Given the description of an element on the screen output the (x, y) to click on. 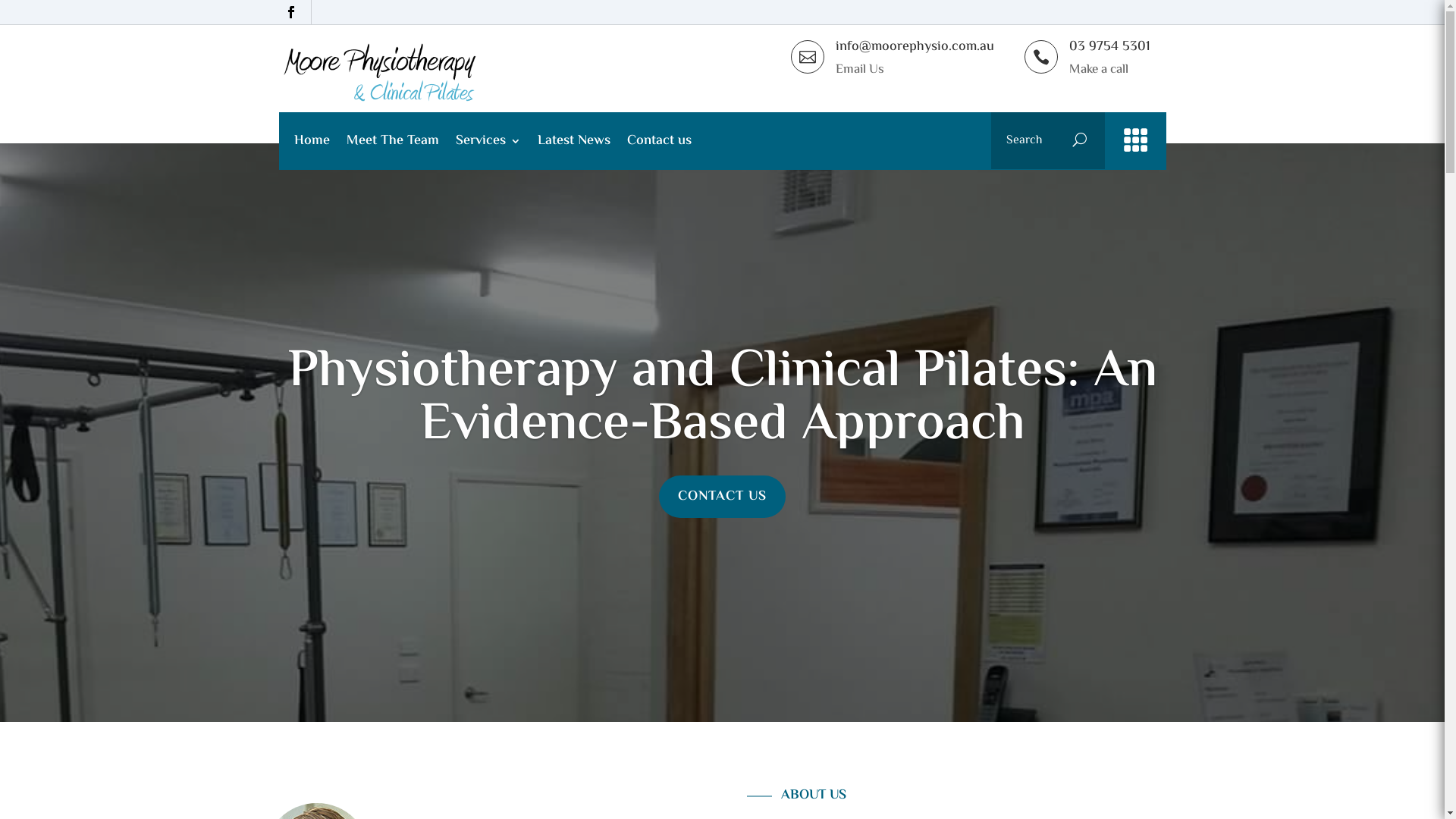
Meet The Team Element type: text (391, 143)
CONTACT US Element type: text (721, 496)
Home Element type: text (311, 143)
Latest News Element type: text (572, 143)
Search Element type: text (1083, 140)
Services Element type: text (487, 143)
Contact us Element type: text (658, 143)
mainlogo Element type: hover (379, 72)
Follow on Facebook Element type: hover (295, 12)
